Given the description of an element on the screen output the (x, y) to click on. 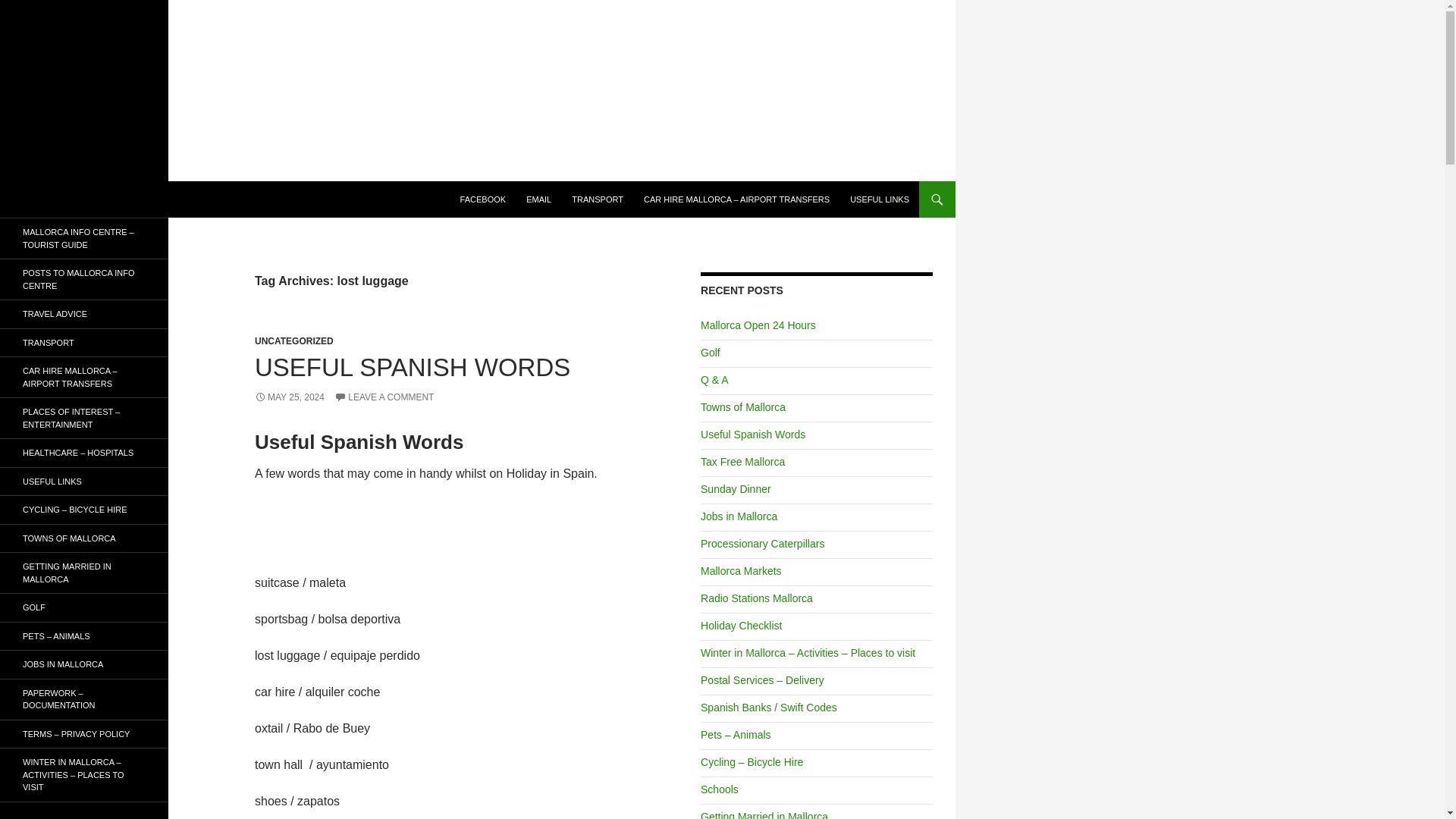
BOLD (483, 198)
UNCATEGORIZED (293, 340)
MAY 25, 2024 (289, 397)
TRANSPORT (596, 198)
FACEBOOK (483, 198)
USEFUL LINKS (879, 198)
BOLD (538, 198)
LEAVE A COMMENT (383, 397)
Mallorca Info Centre (88, 198)
USEFUL SPANISH WORDS (412, 366)
EMAIL (538, 198)
